Given the description of an element on the screen output the (x, y) to click on. 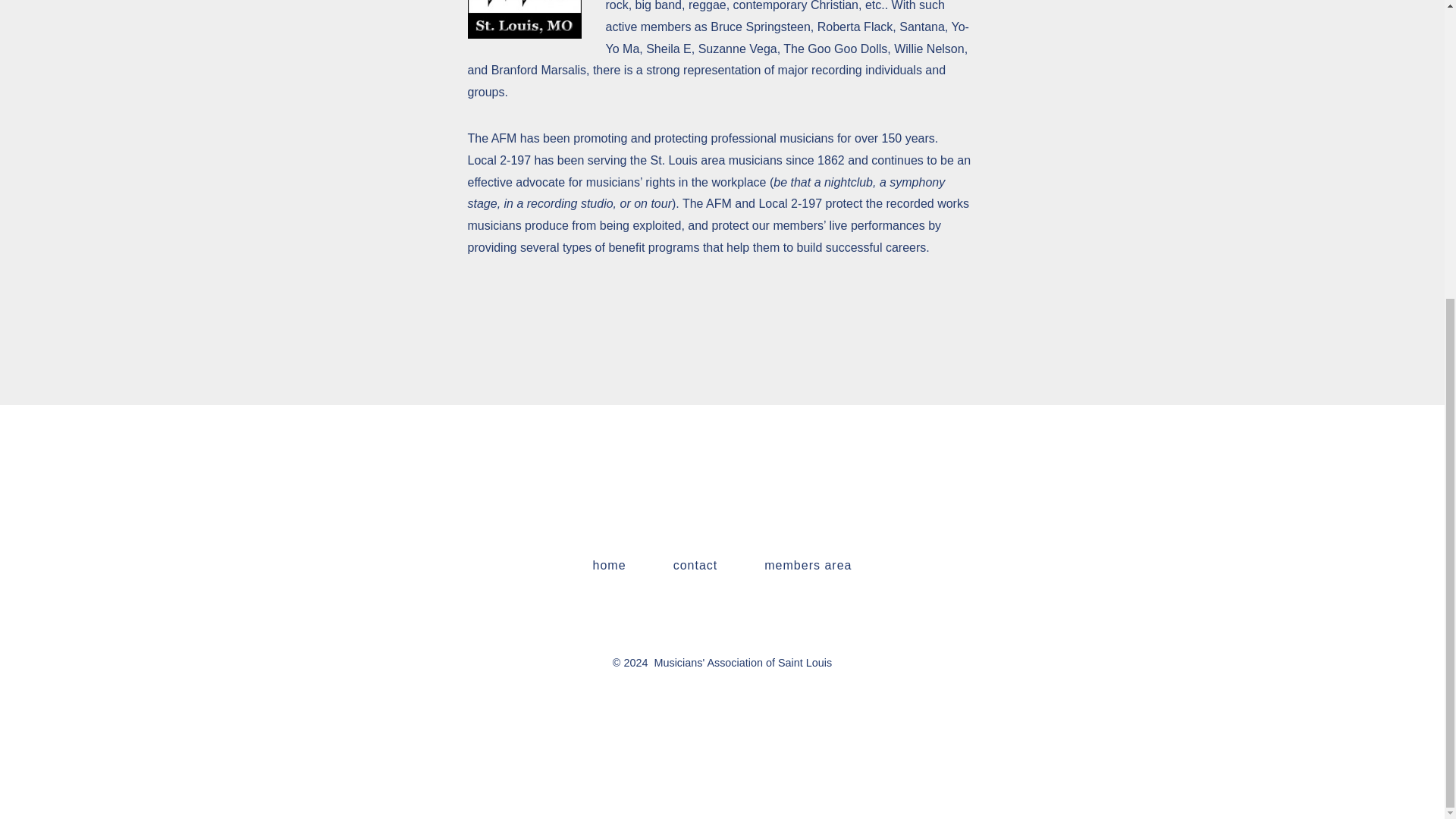
home (608, 565)
contact (694, 565)
members area (807, 565)
